Given the description of an element on the screen output the (x, y) to click on. 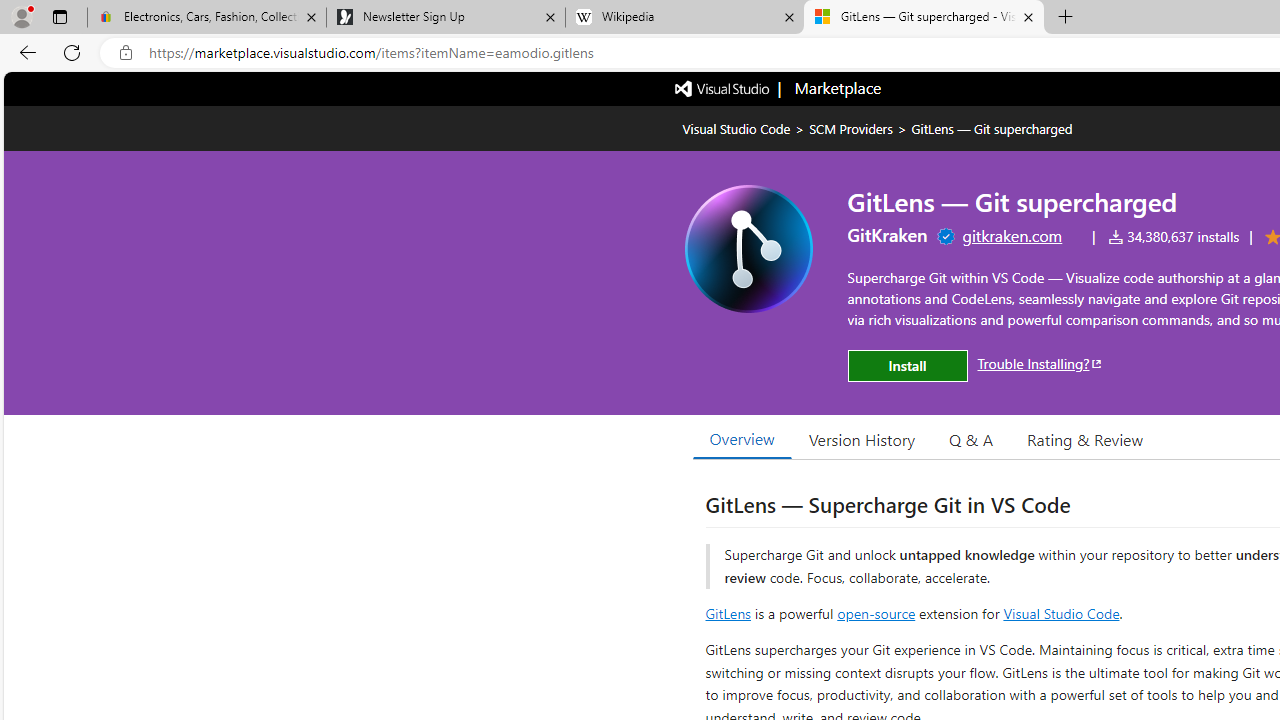
SCM Providers (850, 128)
Rating & Review (1084, 439)
GitLens (728, 612)
Newsletter Sign Up (445, 17)
Visual Studio logo Marketplace logo (776, 88)
Wikipedia (684, 17)
Q & A (971, 439)
Overview (742, 439)
More from GitKraken publisher (887, 234)
Version History (862, 439)
